Given the description of an element on the screen output the (x, y) to click on. 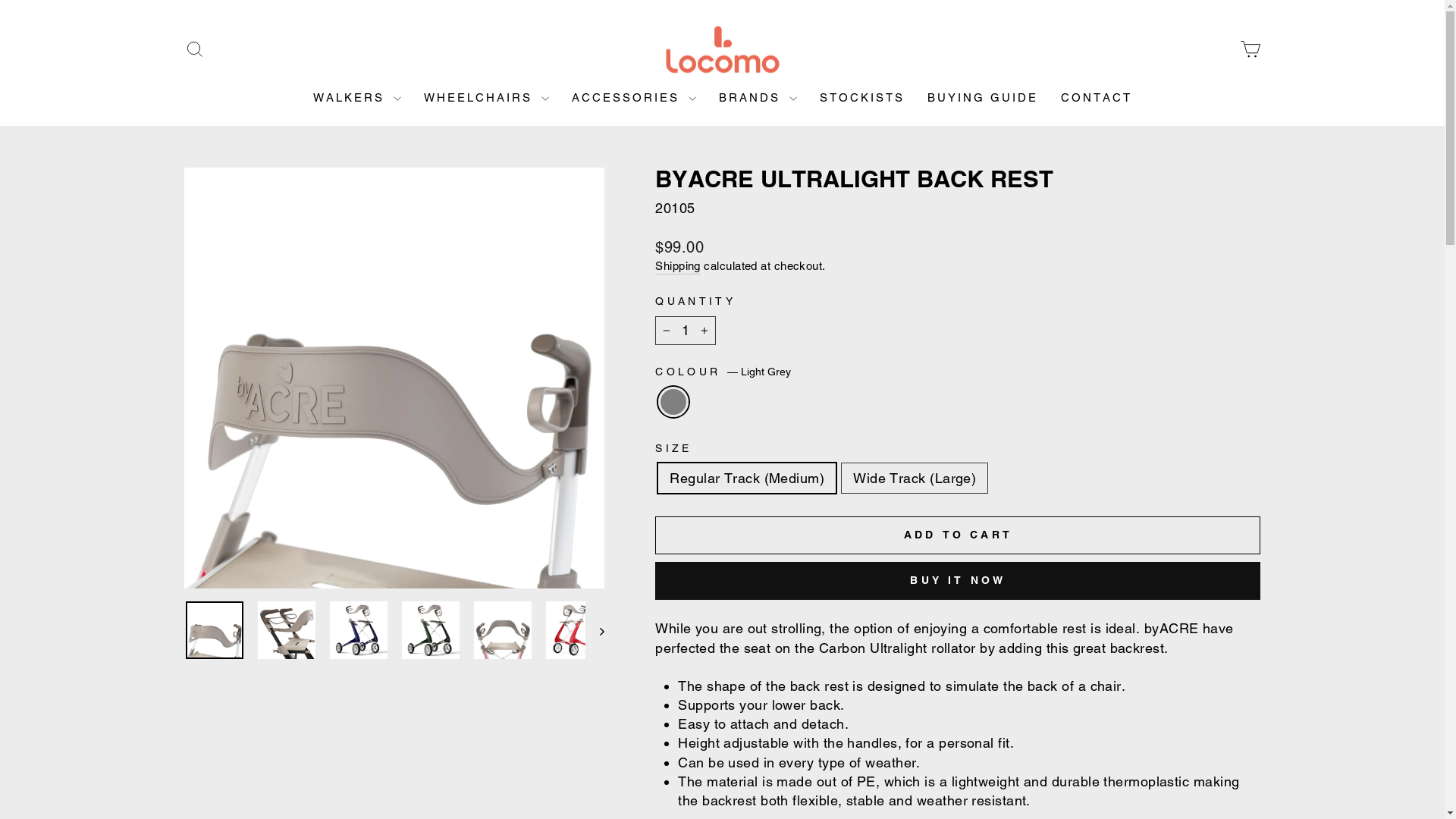
ADD TO CART Element type: text (957, 535)
BUYING GUIDE Element type: text (982, 96)
Shipping Element type: text (677, 265)
CONTACT Element type: text (1096, 96)
+ Element type: text (704, 330)
icon-chevron Element type: text (594, 629)
ICON-SEARCH
SEARCH Element type: text (193, 49)
STOCKISTS Element type: text (862, 96)
CART Element type: text (1249, 49)
BUY IT NOW Element type: text (957, 580)
